Given the description of an element on the screen output the (x, y) to click on. 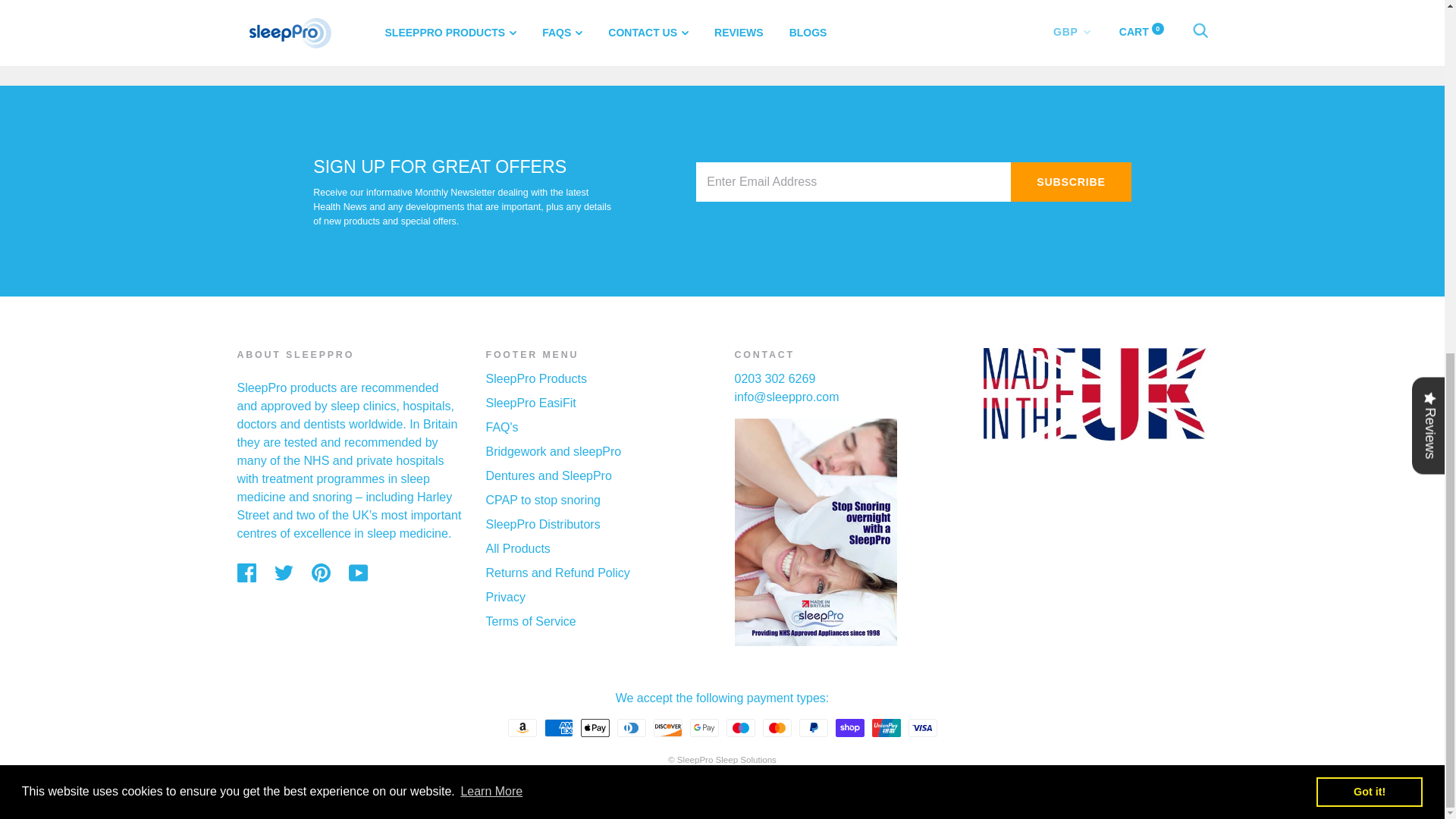
Shop Pay (849, 728)
Amazon (522, 728)
Google Pay (704, 728)
Facebook (245, 572)
Maestro (740, 728)
Apple Pay (595, 728)
American Express (558, 728)
Subscribe (1070, 181)
Discover (667, 728)
Union Pay (886, 728)
Diners Club (631, 728)
PayPal (813, 728)
Got it! (1369, 174)
Mastercard (777, 728)
Twitter (284, 572)
